Given the description of an element on the screen output the (x, y) to click on. 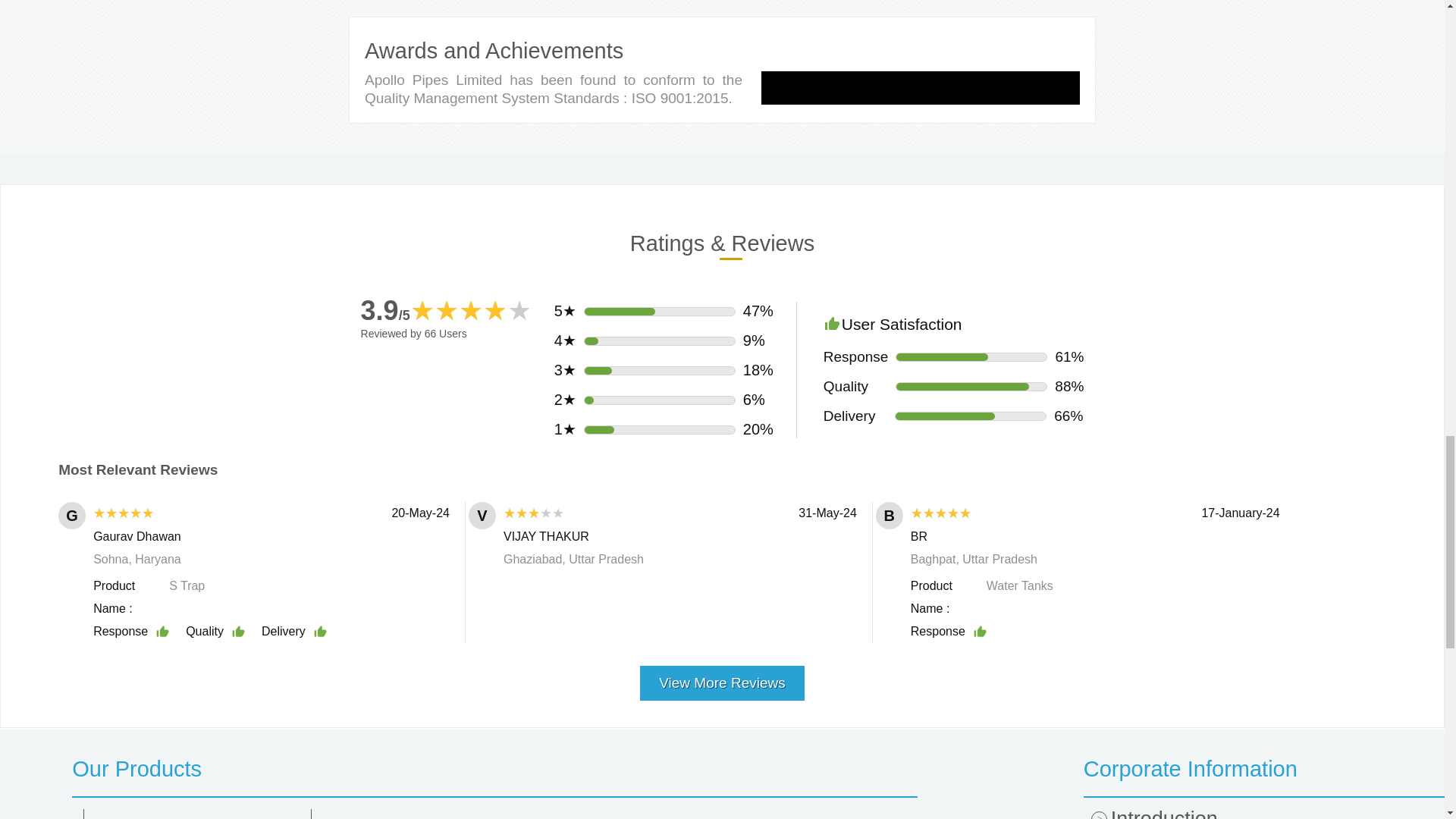
Our Products (494, 769)
3.9 out of 5 Votes (385, 309)
View More Reviews (721, 676)
